Given the description of an element on the screen output the (x, y) to click on. 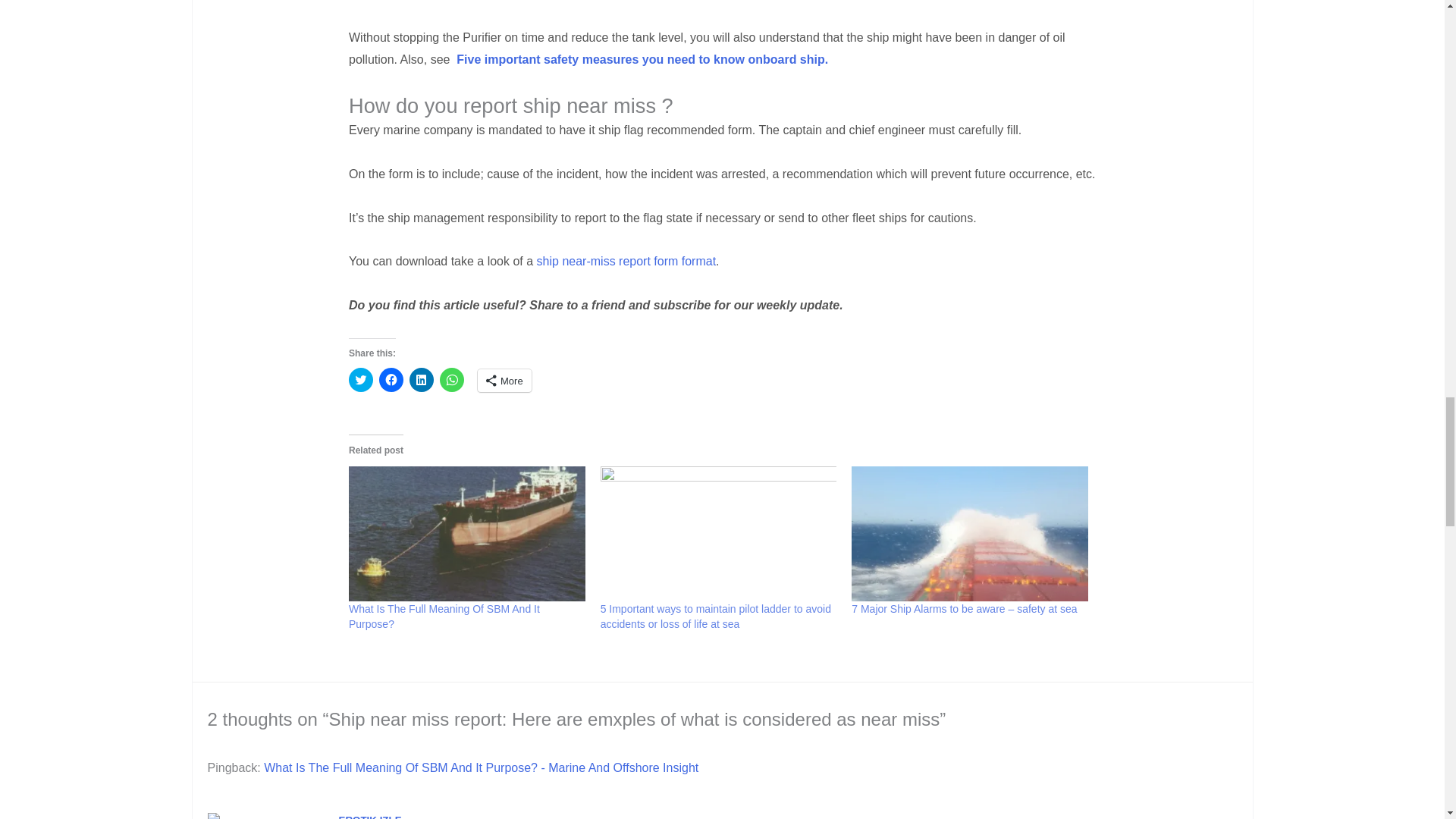
ship near-miss report form format (626, 260)
Click to share on Facebook (390, 379)
Click to share on LinkedIn (421, 379)
Click to share on WhatsApp (451, 379)
Click to share on Twitter (360, 379)
